Given the description of an element on the screen output the (x, y) to click on. 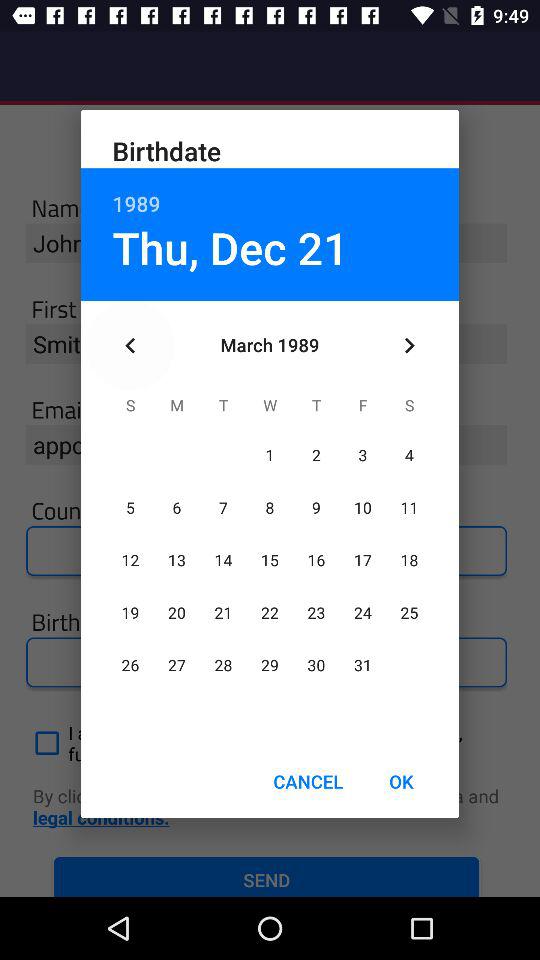
swipe until the ok (401, 781)
